Given the description of an element on the screen output the (x, y) to click on. 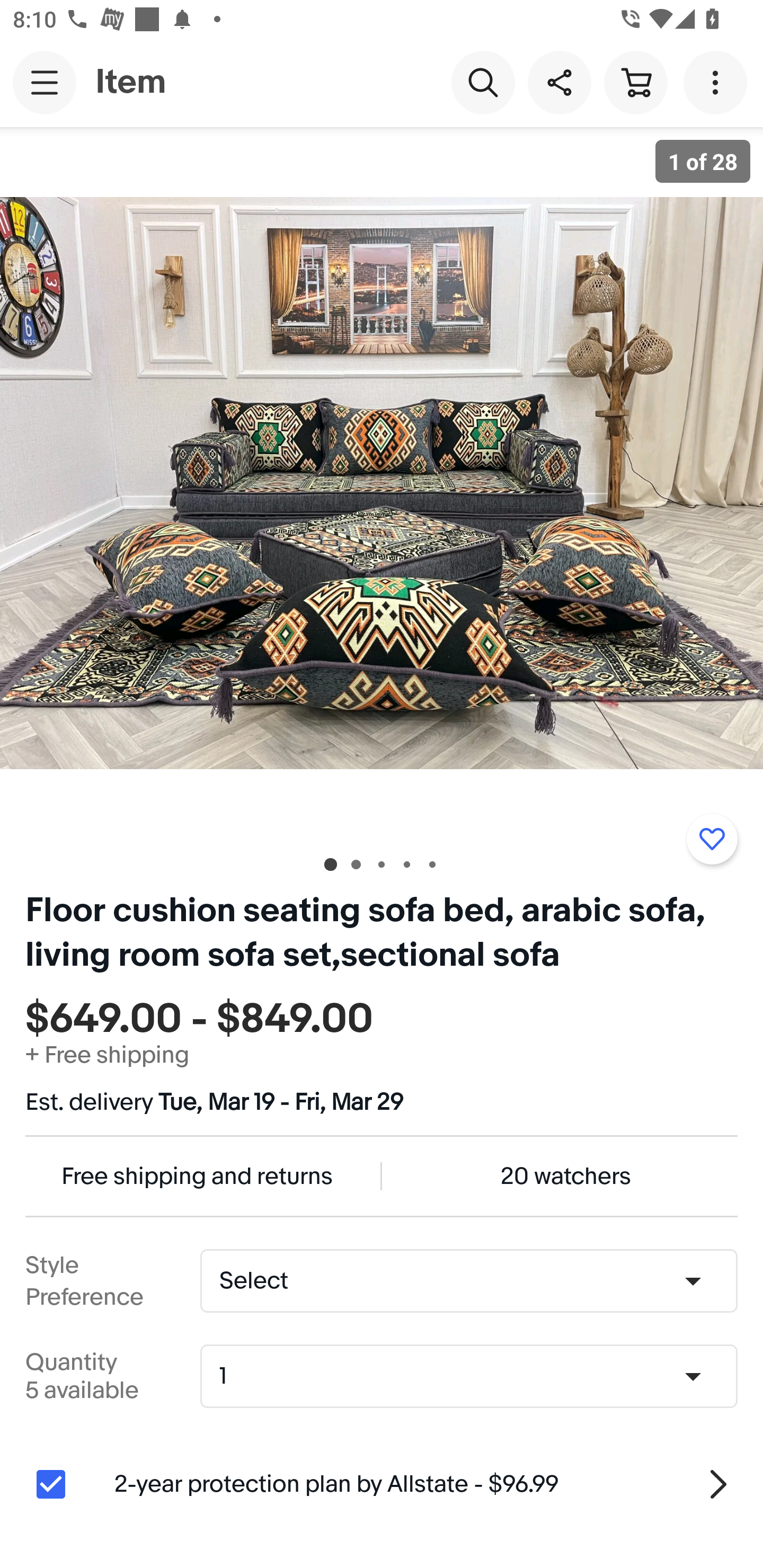
Main navigation, open (44, 82)
Search (482, 81)
Share this item (559, 81)
Cart button shopping cart (635, 81)
More options (718, 81)
Item image 1 of 28 (381, 482)
Add to watchlist (711, 838)
Style Preference,No selection Select (468, 1280)
Quantity,1,5 available 1 (474, 1376)
2-year protection plan by Allstate - $96.99 (425, 1483)
